Given the description of an element on the screen output the (x, y) to click on. 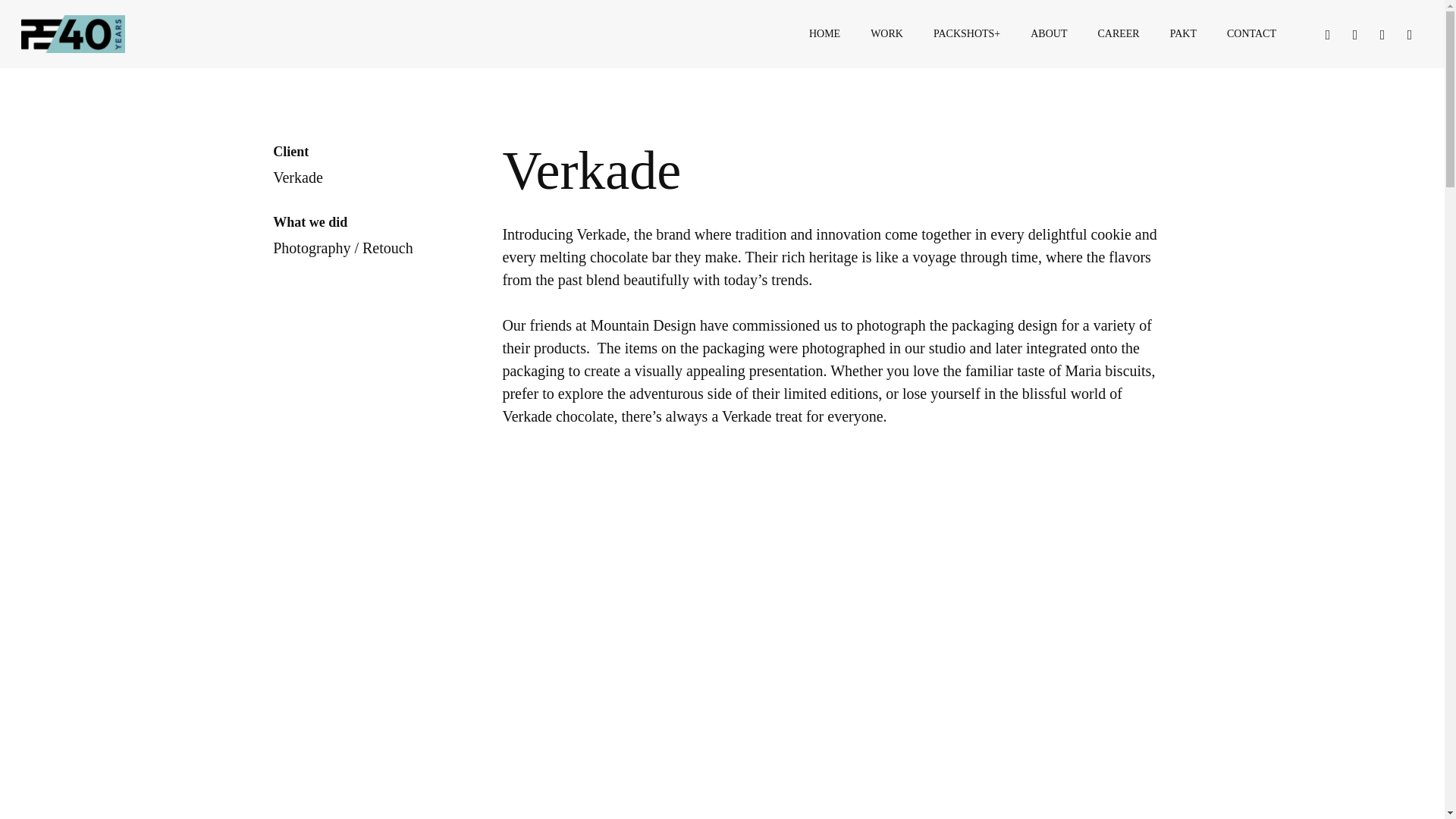
CONTACT (1251, 33)
INSTAGRAM (1382, 34)
BEHANCE (1409, 34)
HOME (824, 33)
CAREER (1117, 33)
ABOUT (1047, 33)
WORK (887, 33)
PAKT (1182, 33)
LINKEDIN (1354, 34)
FACEBOOK (1327, 34)
